Given the description of an element on the screen output the (x, y) to click on. 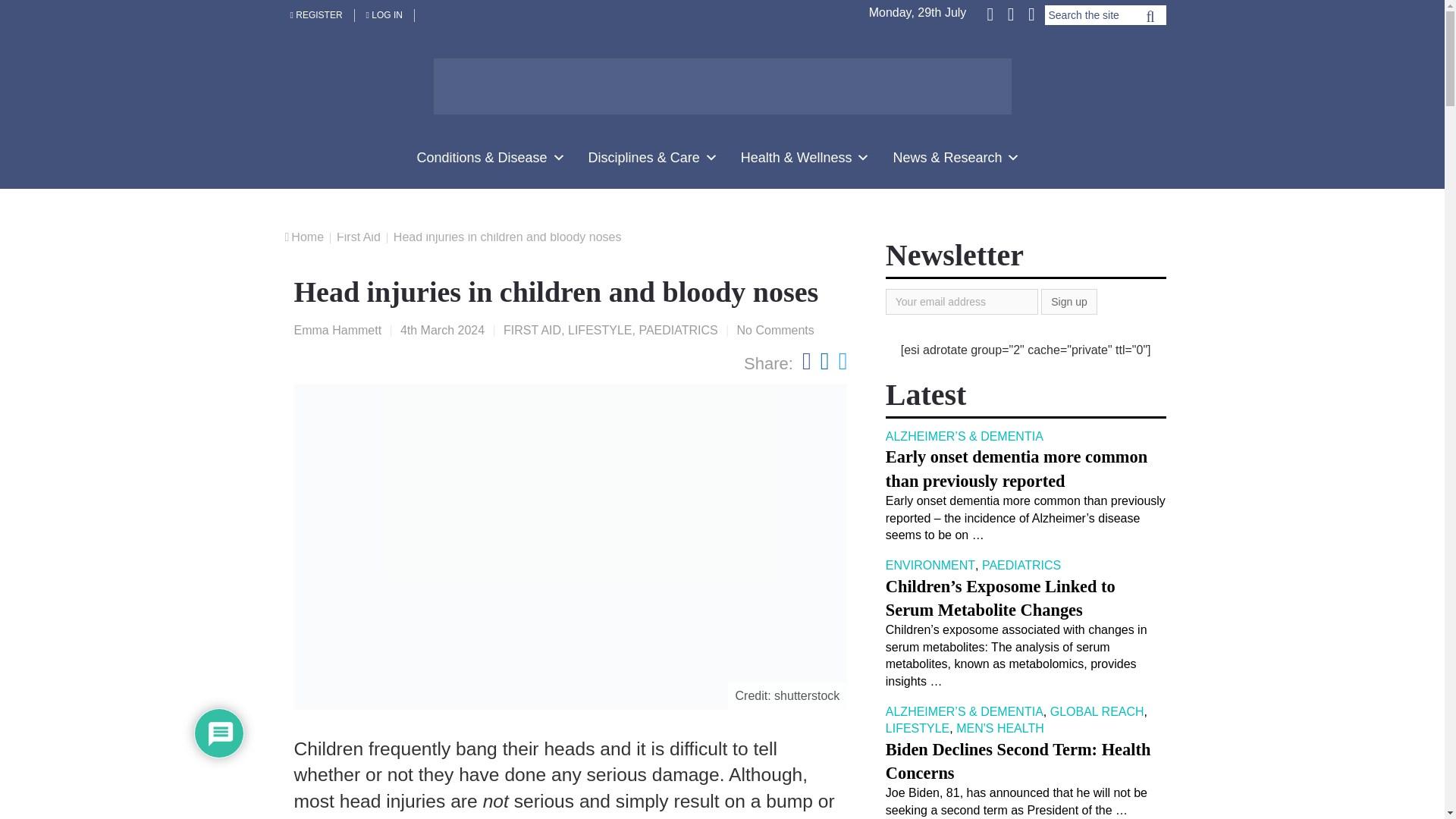
search (1150, 20)
Follow The Hippocratic Post on LinkedIn (1030, 13)
Follow The Hippocratic Post on Twitter (1010, 13)
Share to FaceBook (806, 360)
Like The Hippocratic Post on Facebook (991, 13)
LOG IN (384, 15)
View all posts in Lifestyle (599, 329)
search (1150, 20)
Share to Twitter (842, 360)
Sign up (1068, 301)
View all posts in Paediatrics (678, 329)
REGISTER (317, 15)
View all posts in First Aid (531, 329)
Posts by Emma Hammett (337, 329)
